Given the description of an element on the screen output the (x, y) to click on. 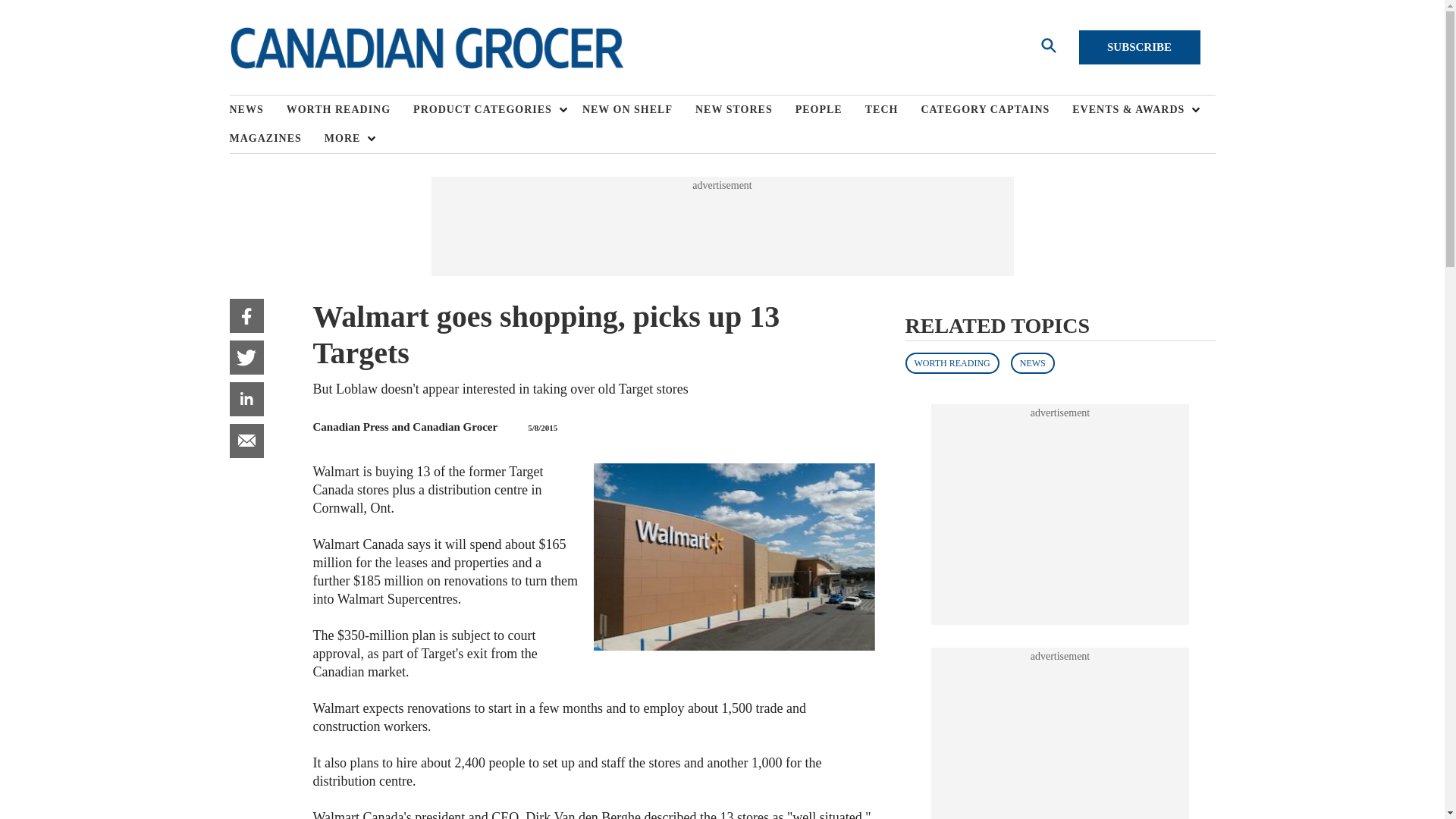
email (245, 440)
3rd party ad content (1059, 741)
CATEGORY CAPTAINS (995, 109)
PEOPLE (829, 109)
3rd party ad content (1059, 514)
TECH (892, 109)
linkedIn (245, 399)
NEW ON SHELF (638, 109)
SUBSCRIBE (1138, 47)
twitter (245, 357)
3rd party ad content (721, 226)
facebook (245, 315)
WORTH READING (349, 109)
MAGAZINES (275, 138)
linkedIn (245, 399)
